Given the description of an element on the screen output the (x, y) to click on. 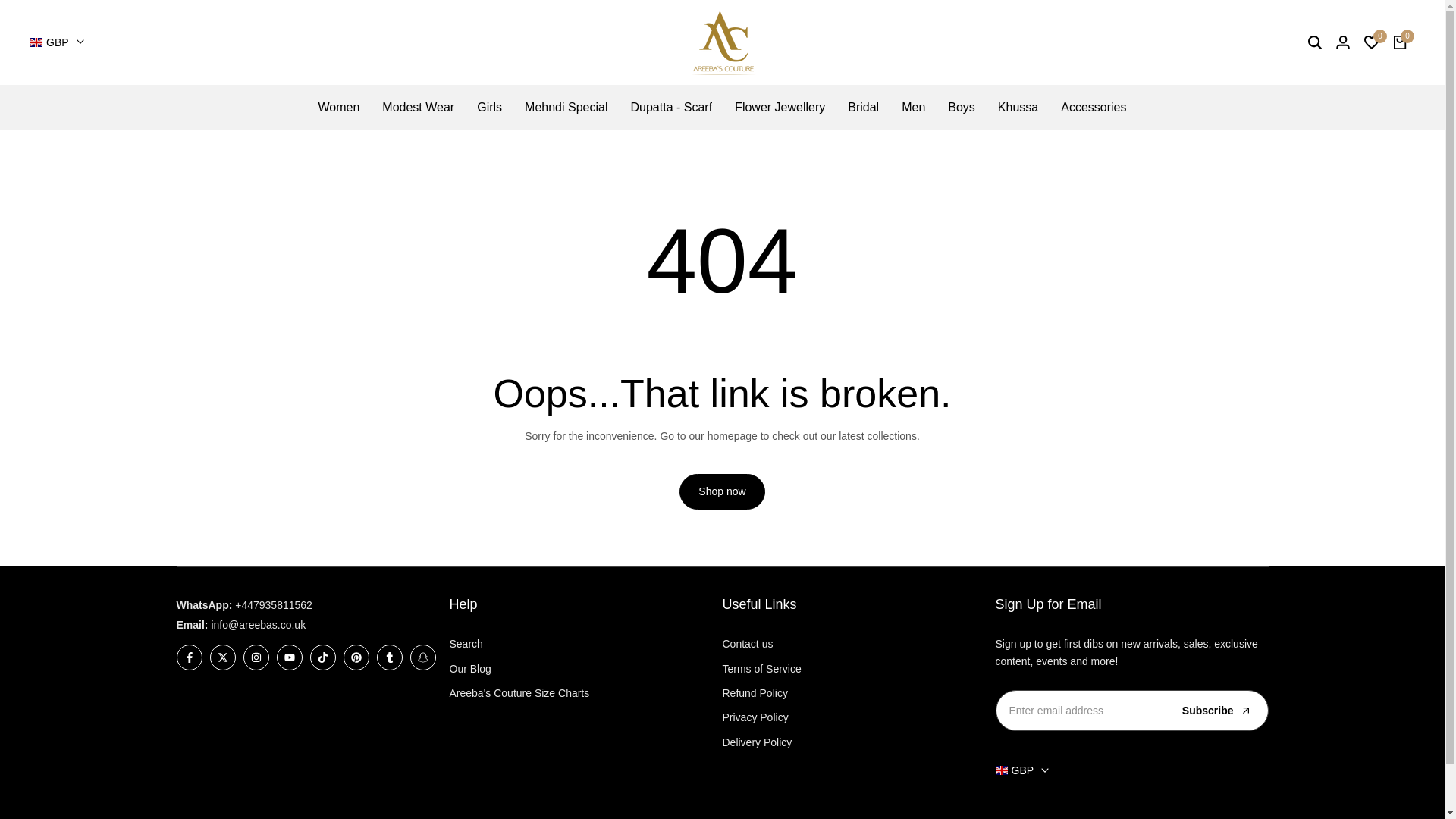
Skip to content (7, 3)
0 (1399, 42)
GBP (57, 42)
0 (1371, 42)
